Given the description of an element on the screen output the (x, y) to click on. 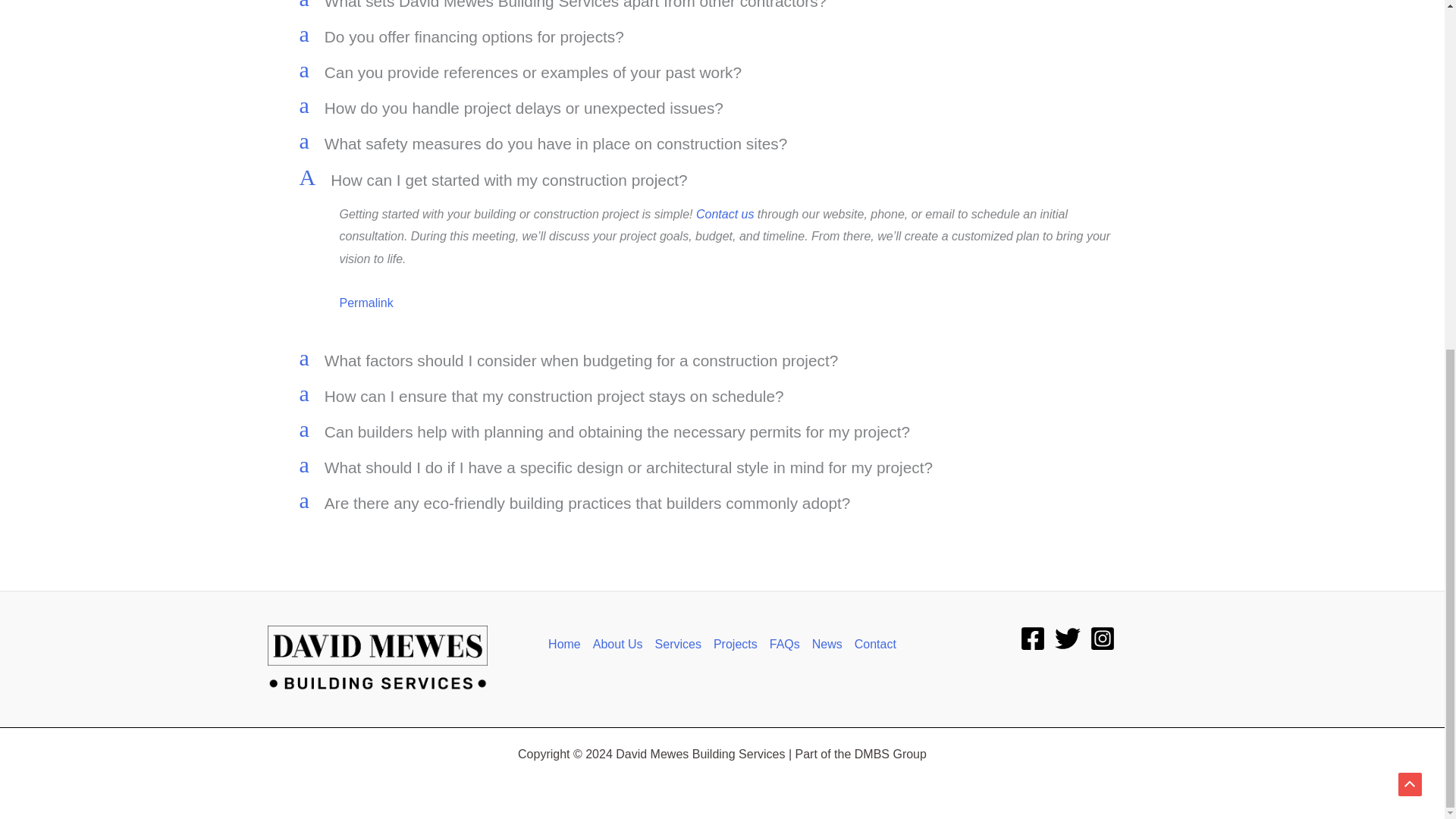
Scroll to Top (722, 36)
